Given the description of an element on the screen output the (x, y) to click on. 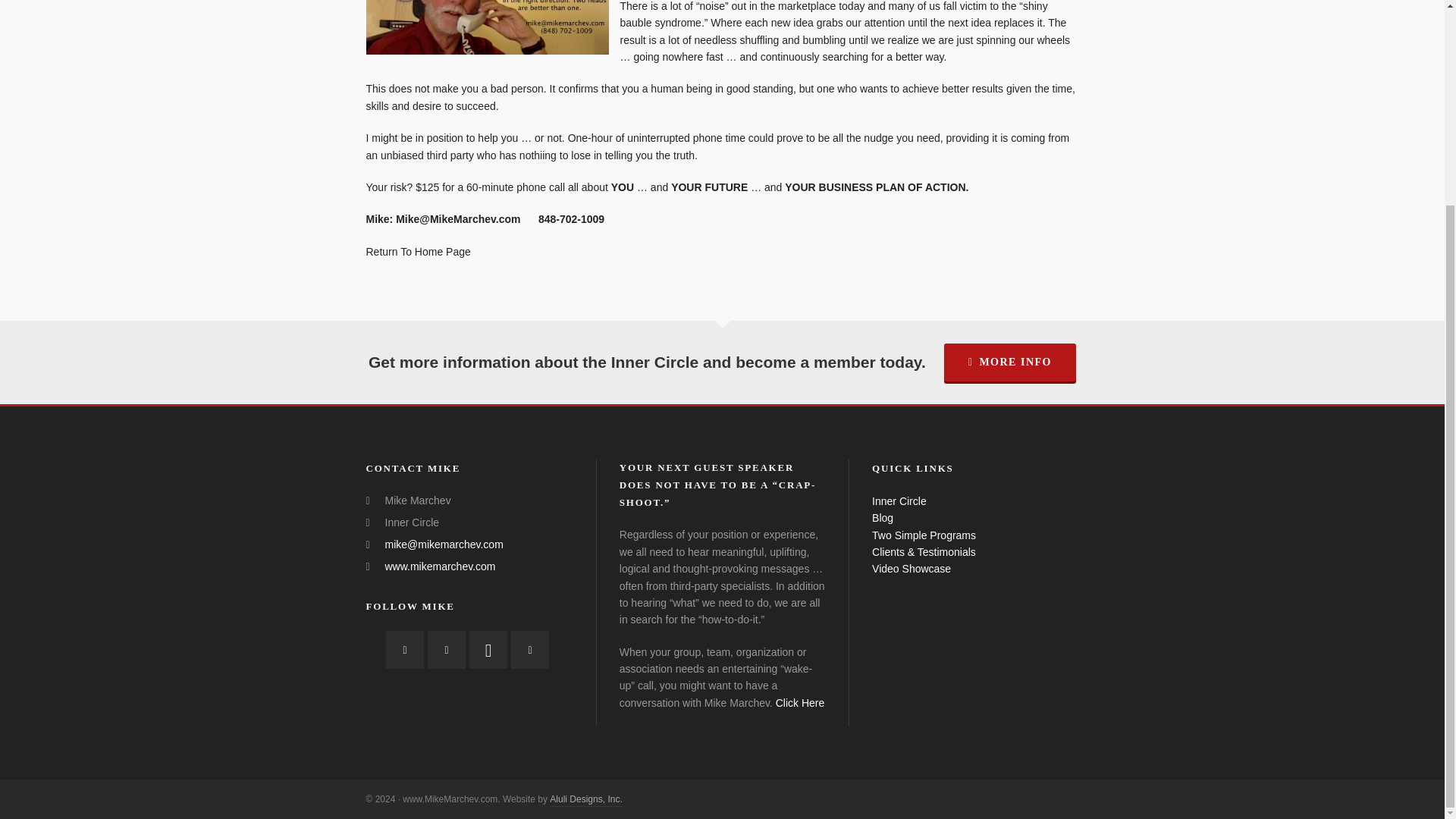
MORE INFO (1009, 362)
www.mikemarchev.com (440, 566)
Click Here (800, 702)
Inner Circle (899, 500)
